Given the description of an element on the screen output the (x, y) to click on. 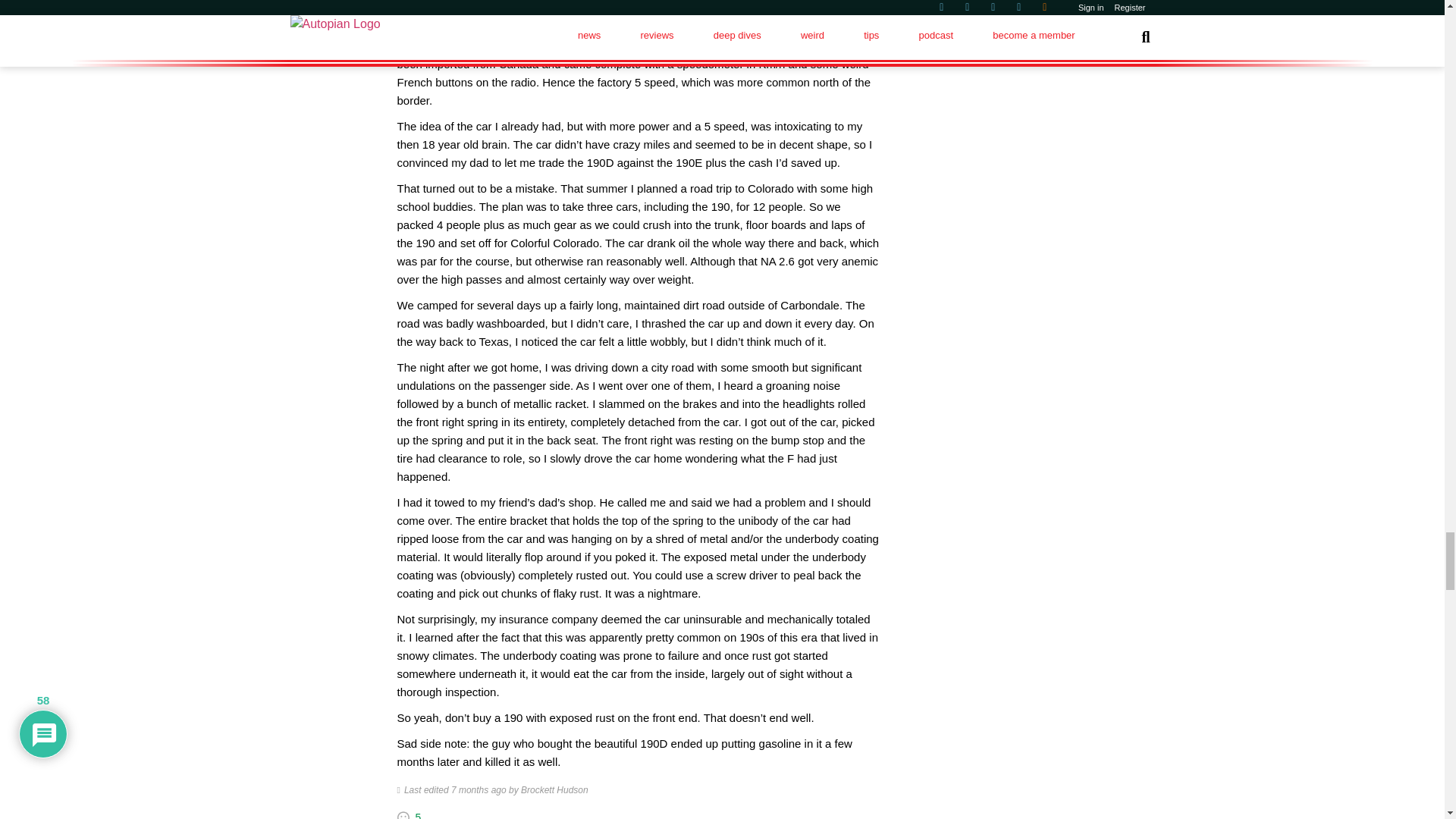
5 (418, 815)
